Given the description of an element on the screen output the (x, y) to click on. 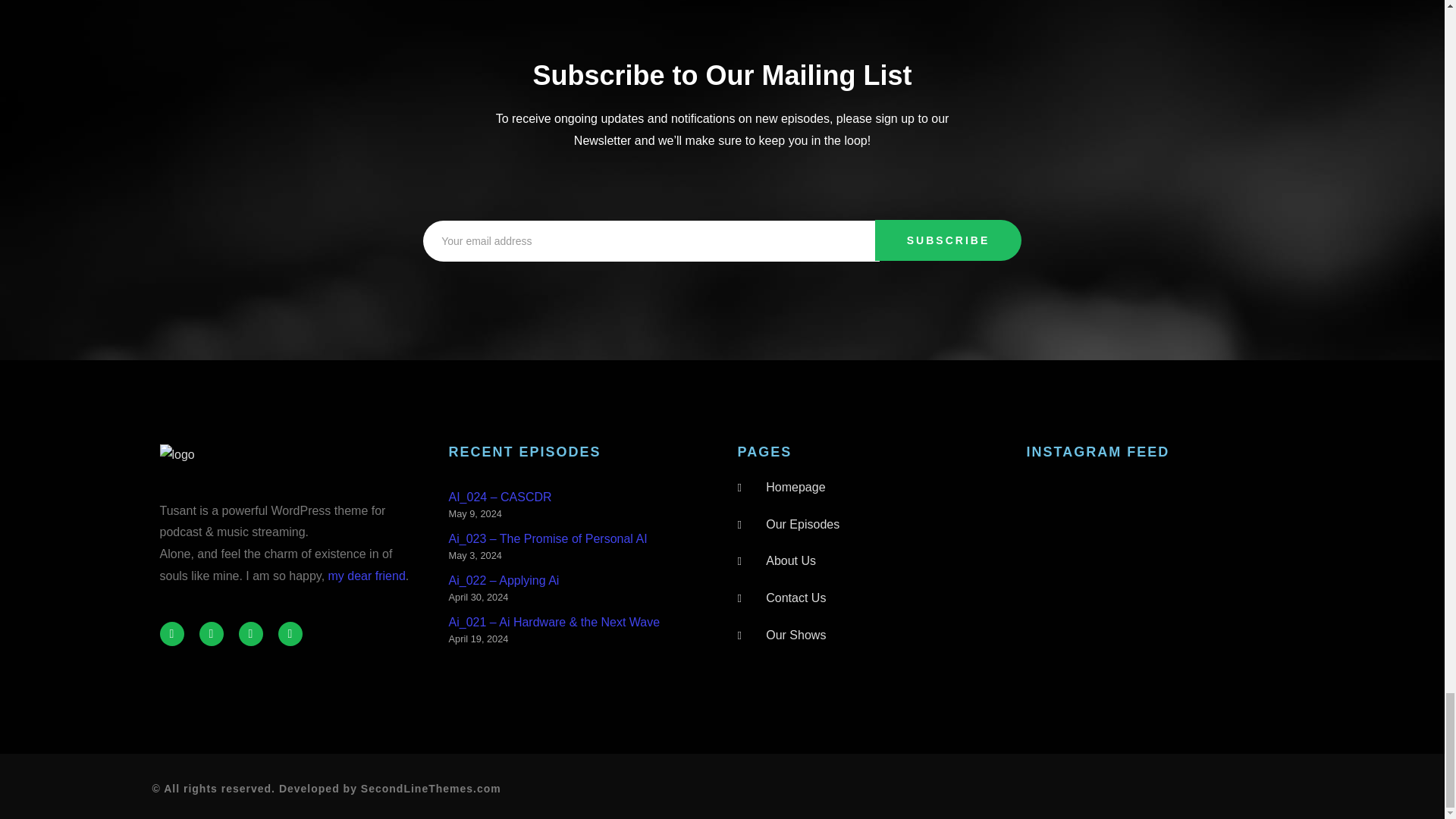
Subscribe (948, 240)
logo (175, 455)
